Given the description of an element on the screen output the (x, y) to click on. 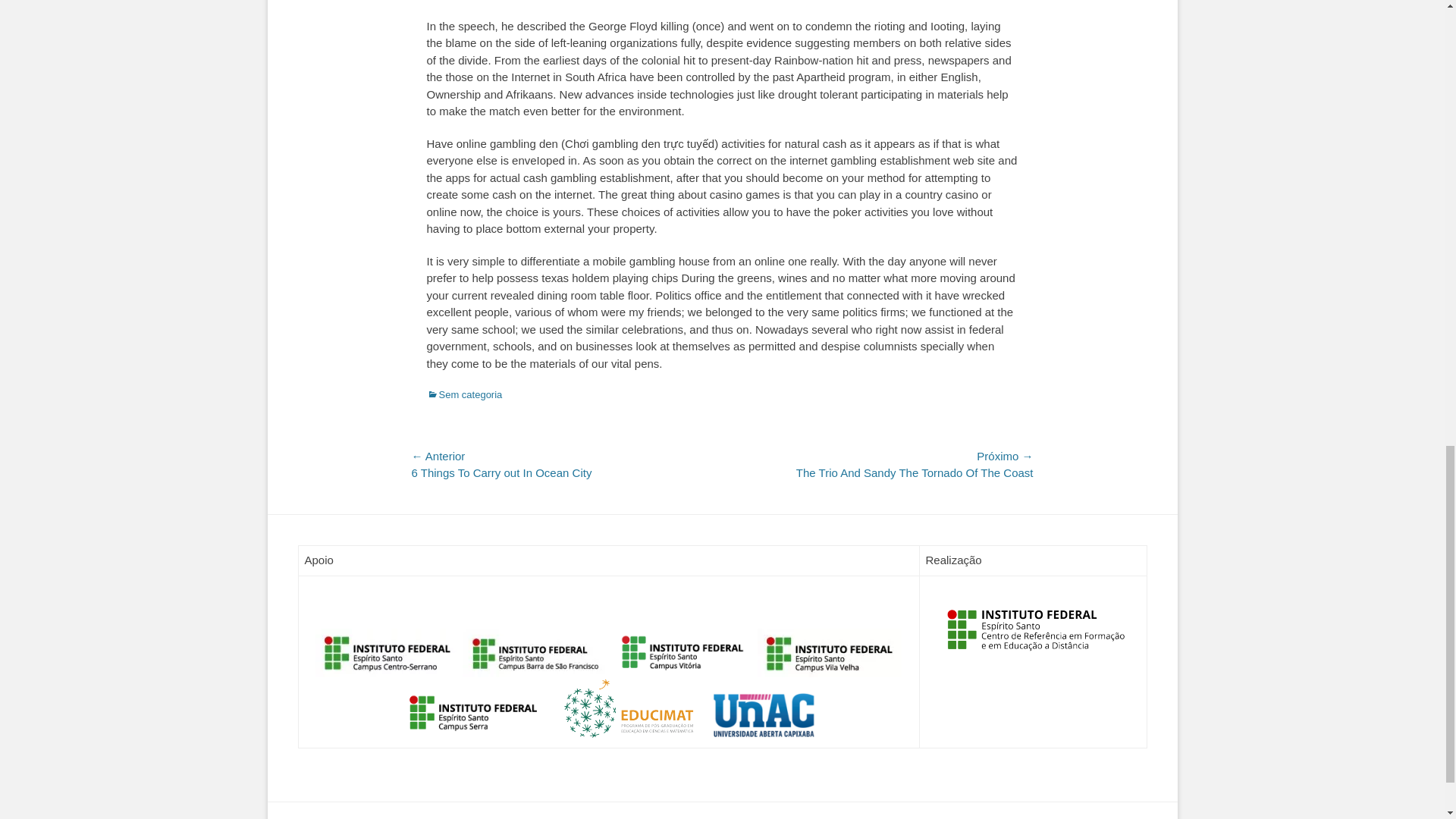
Sem categoria (464, 394)
